Given the description of an element on the screen output the (x, y) to click on. 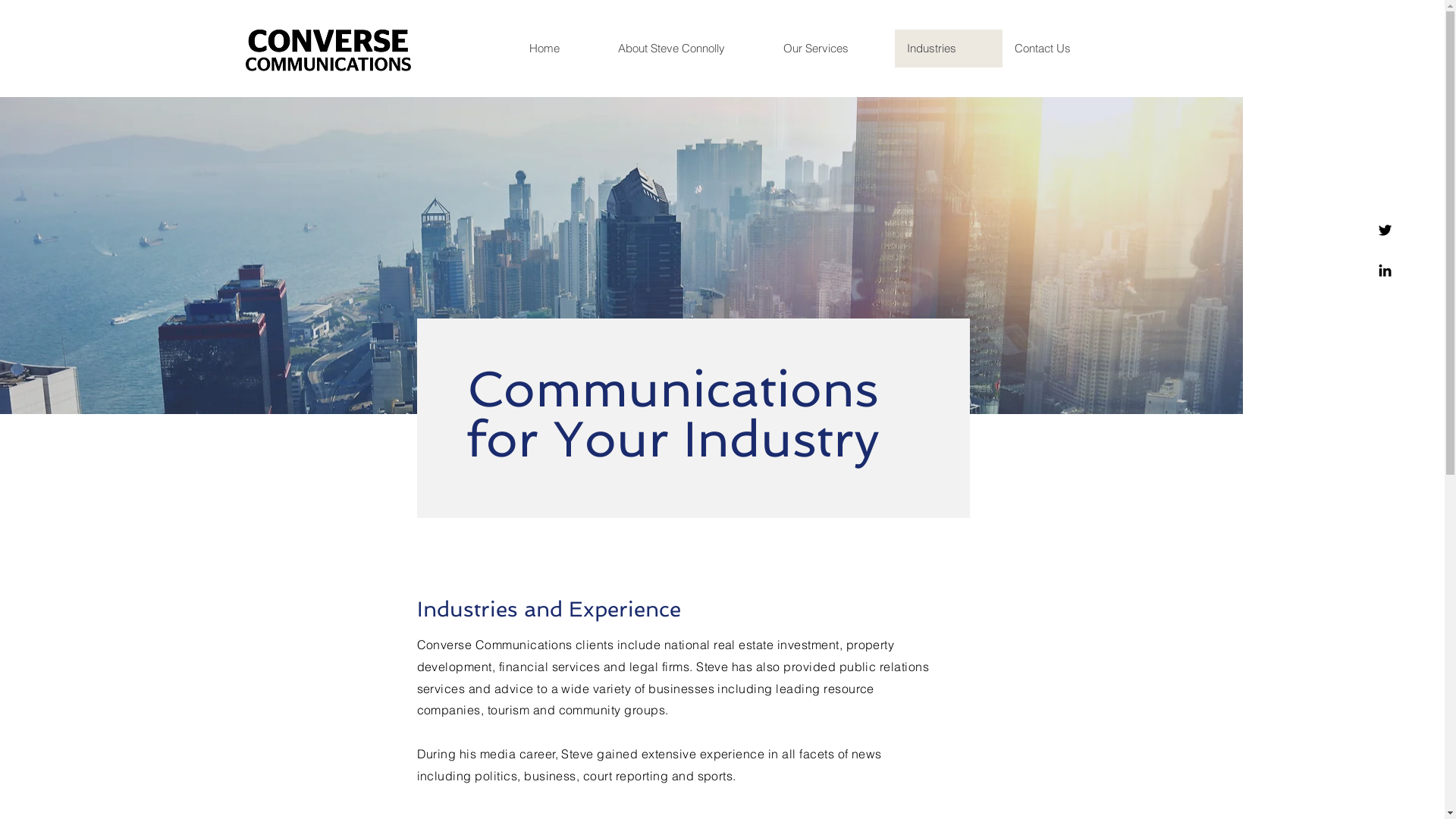
About Steve Connolly Element type: text (687, 48)
Our Services Element type: text (832, 48)
Industries Element type: text (948, 48)
Home Element type: text (561, 48)
Contact Us Element type: text (1059, 48)
